Given the description of an element on the screen output the (x, y) to click on. 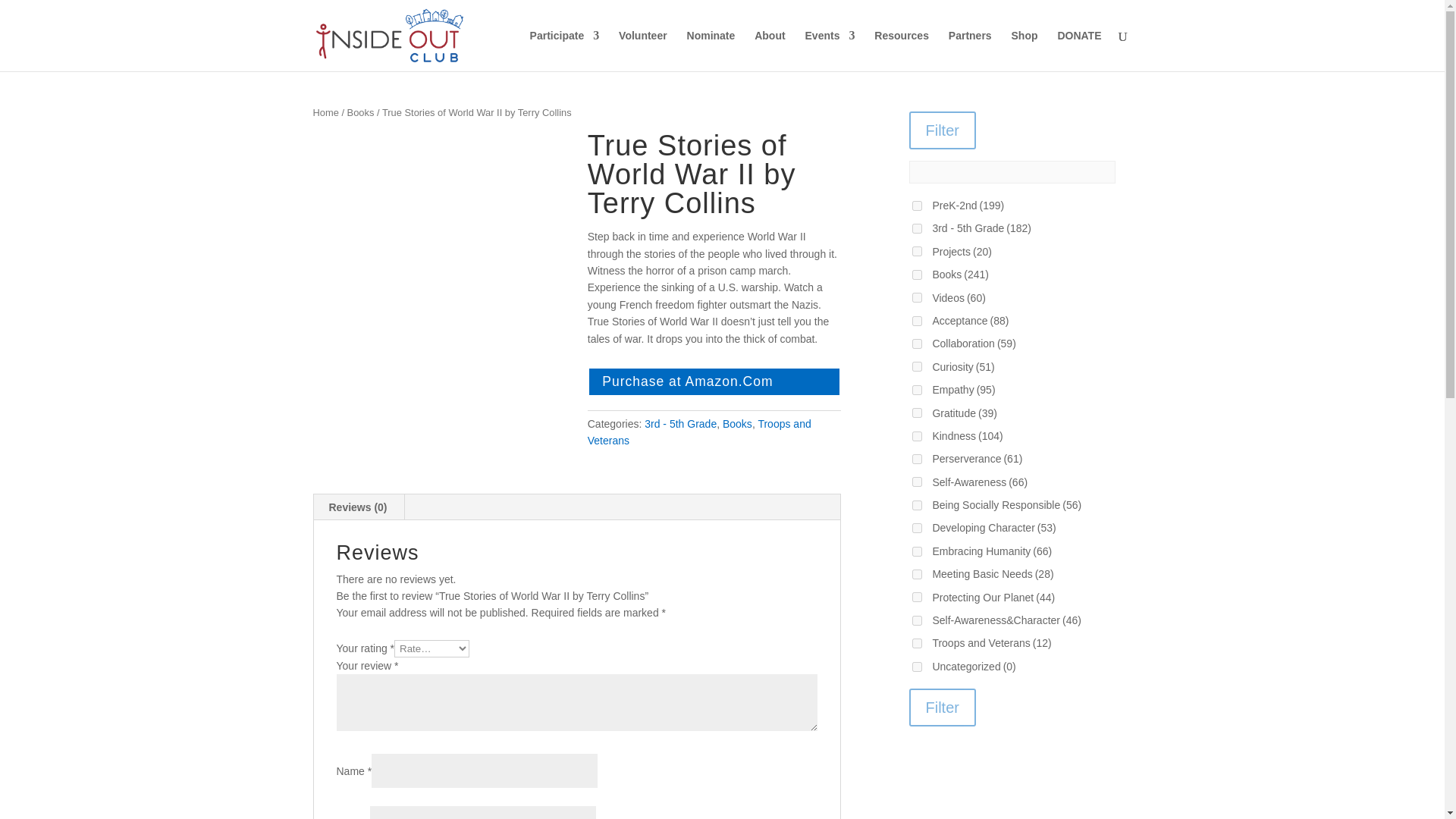
105 (916, 228)
Participate (564, 50)
Home (325, 112)
95 (916, 275)
Resources (901, 50)
113 (916, 459)
107 (916, 481)
Events (830, 50)
109 (916, 343)
114 (916, 505)
